Given the description of an element on the screen output the (x, y) to click on. 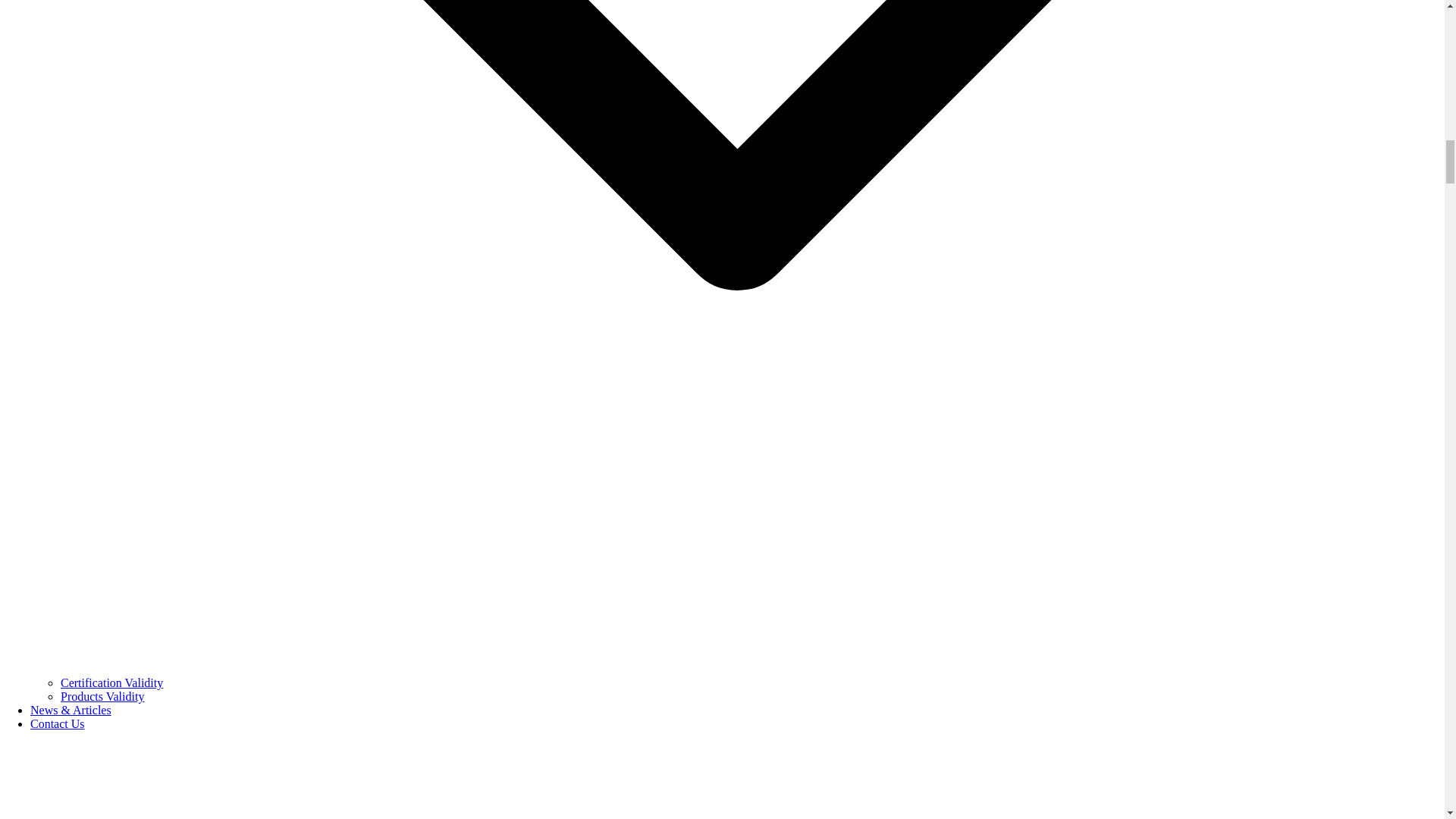
Products Validity (102, 696)
Certification Validity (112, 682)
